Given the description of an element on the screen output the (x, y) to click on. 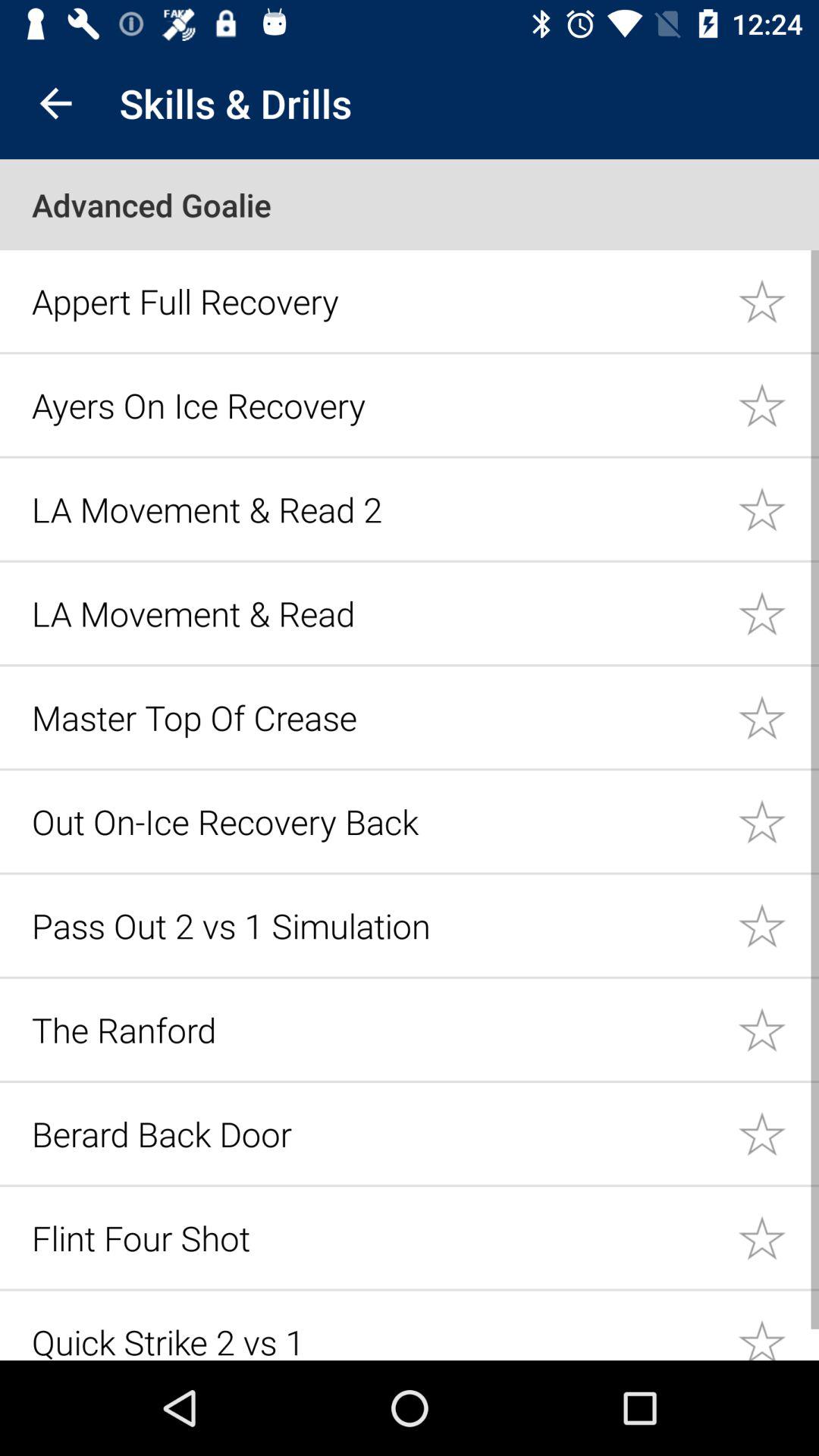
add second list item to list of starred items (778, 404)
